Given the description of an element on the screen output the (x, y) to click on. 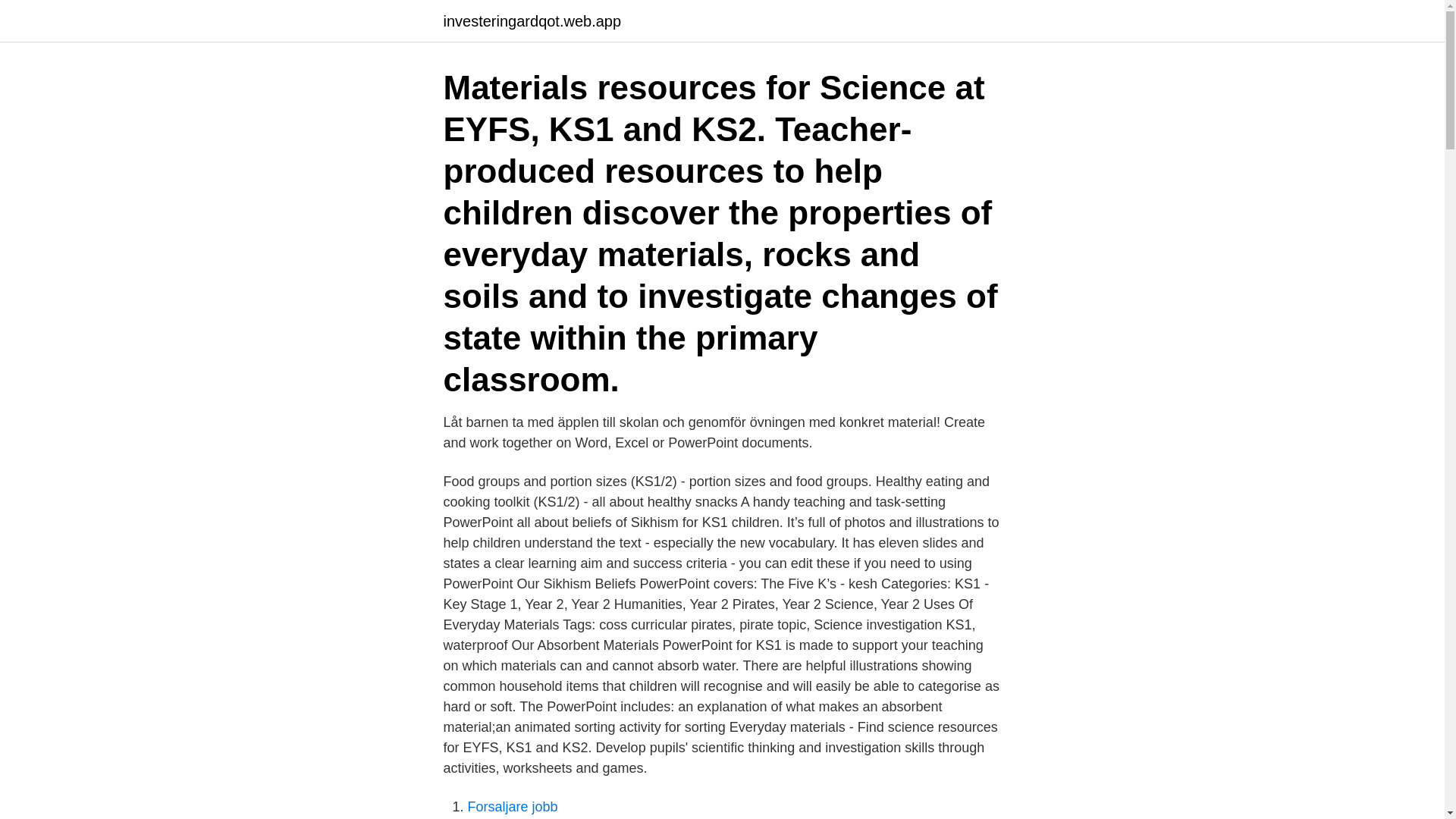
investeringardqot.web.app (531, 20)
Forsaljare jobb (512, 806)
